Given the description of an element on the screen output the (x, y) to click on. 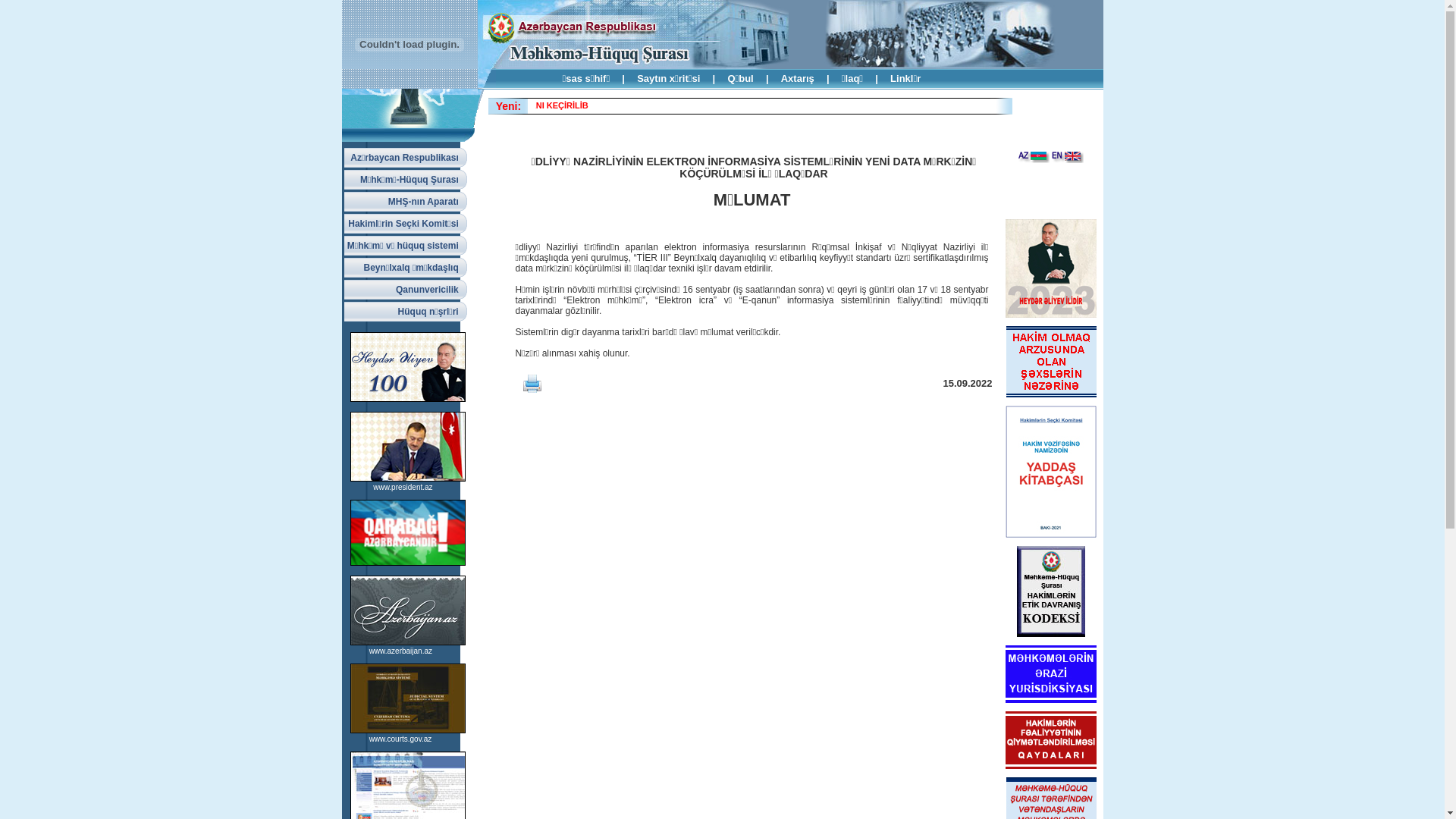
www.azerbaijan.az Element type: text (400, 650)
Qanunvericilik Element type: text (405, 289)
www.courts.gov.az Element type: text (400, 738)
www.president.az Element type: text (402, 487)
